Given the description of an element on the screen output the (x, y) to click on. 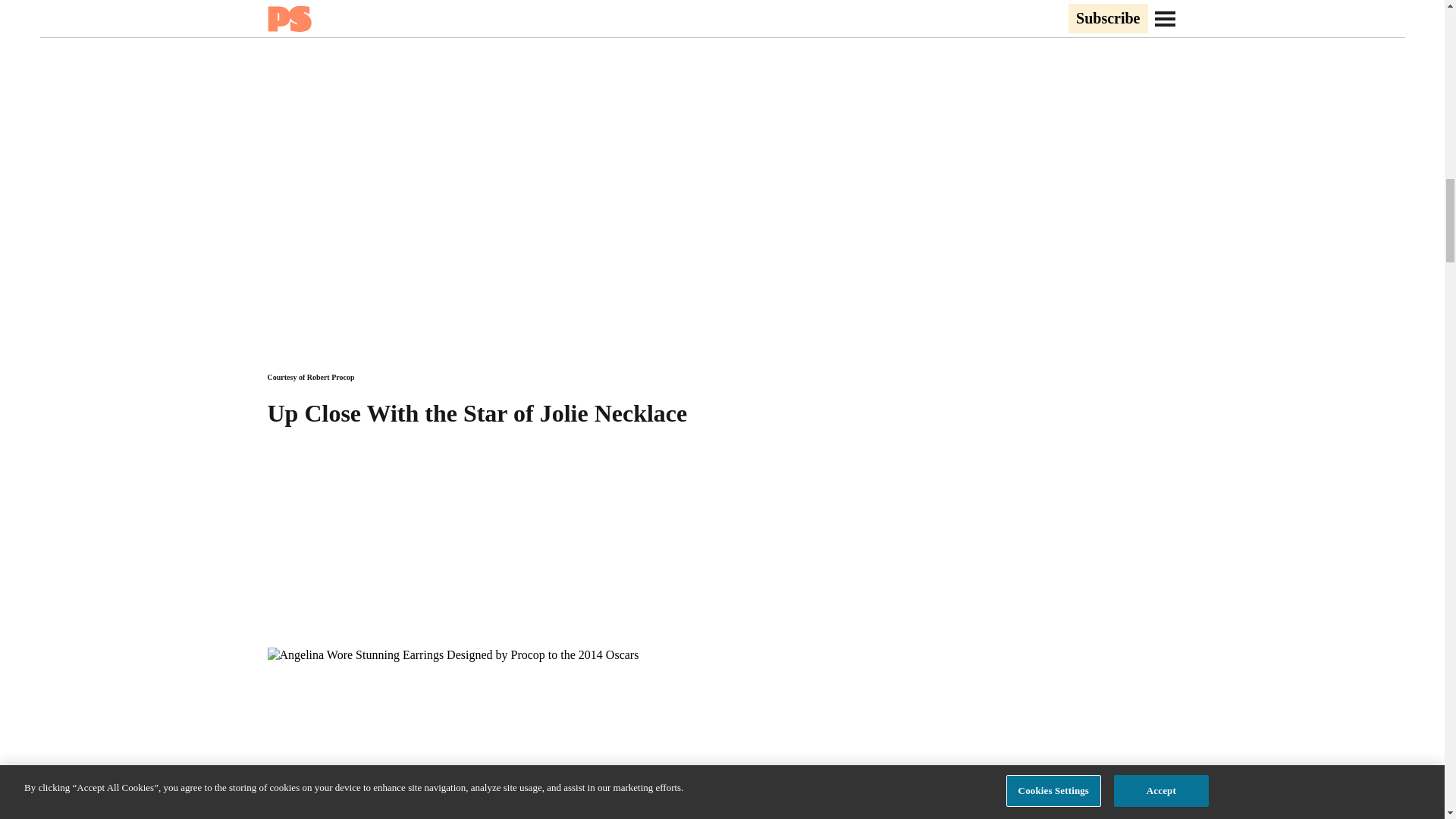
Courtesy of Robert Procop (309, 377)
